Given the description of an element on the screen output the (x, y) to click on. 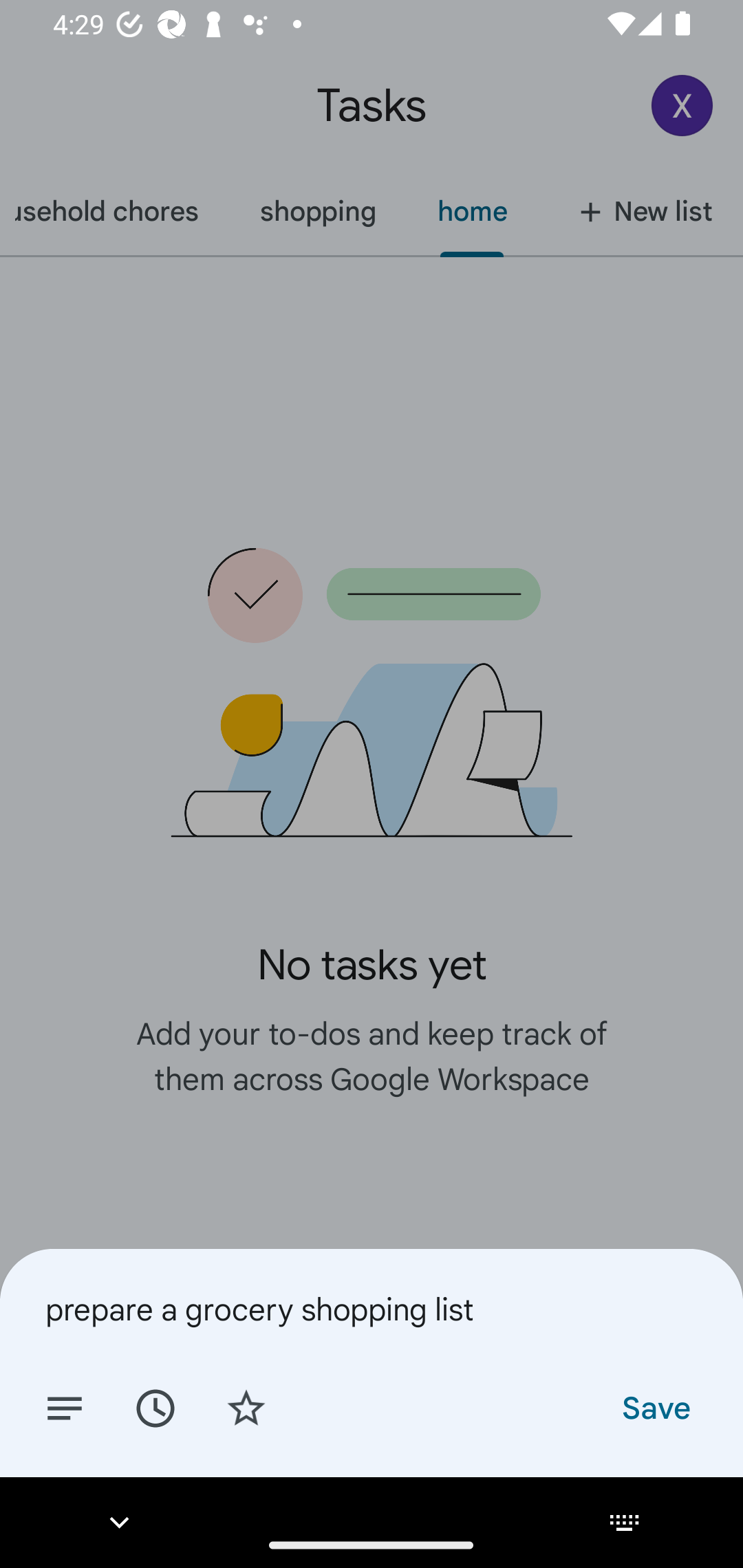
prepare a grocery shopping list (371, 1308)
Save (655, 1407)
Add details (64, 1407)
Set date/time (154, 1407)
Add star (245, 1407)
